Given the description of an element on the screen output the (x, y) to click on. 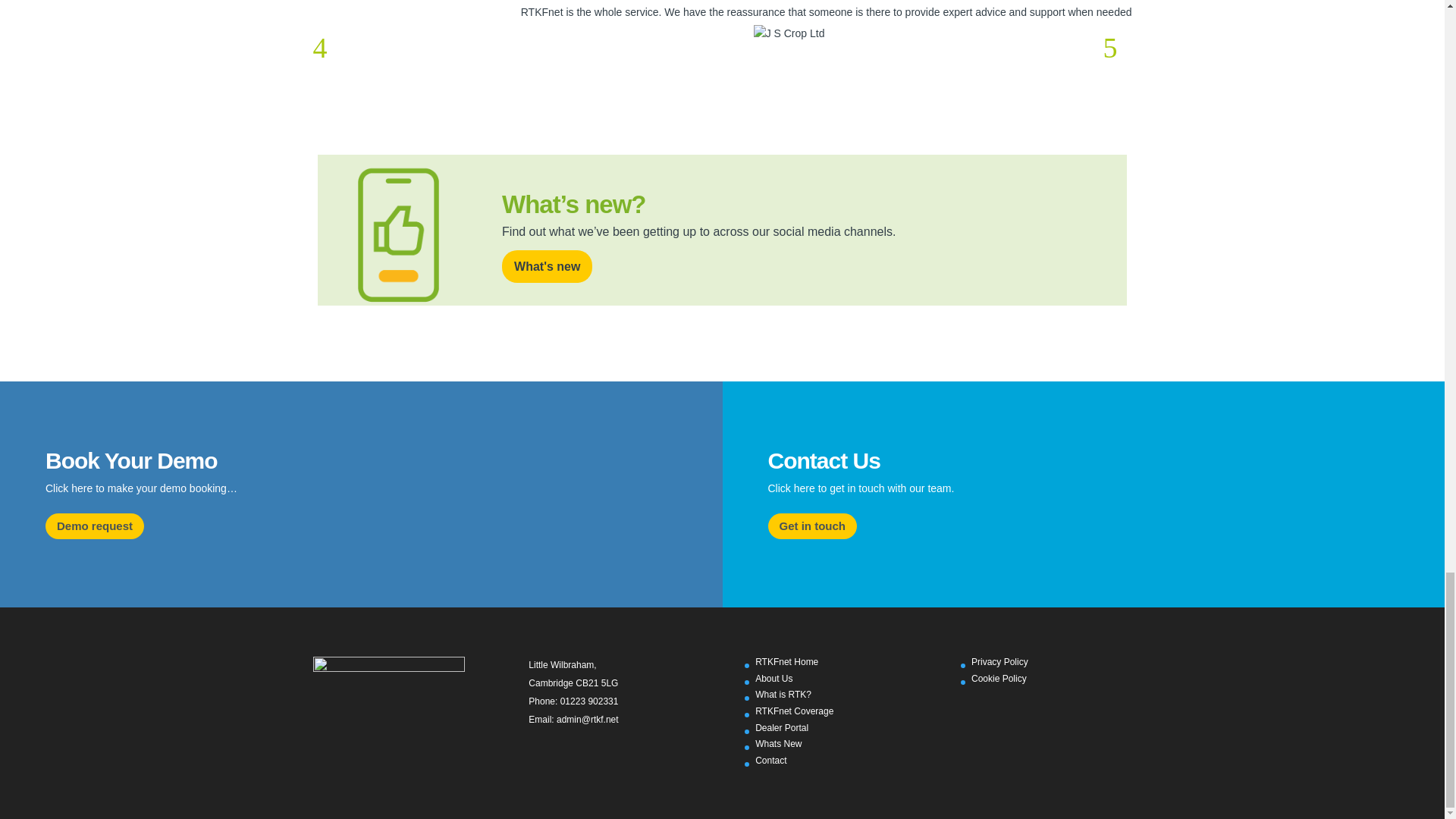
Get in touch (812, 526)
Whats New (778, 743)
About Us (773, 678)
Dealer Portal (781, 727)
Privacy Policy (999, 661)
RTKFnet Home (786, 661)
What's new (547, 266)
RTKFnet Coverage (793, 710)
What is RTK? (782, 694)
Cookie Policy (998, 678)
